Given the description of an element on the screen output the (x, y) to click on. 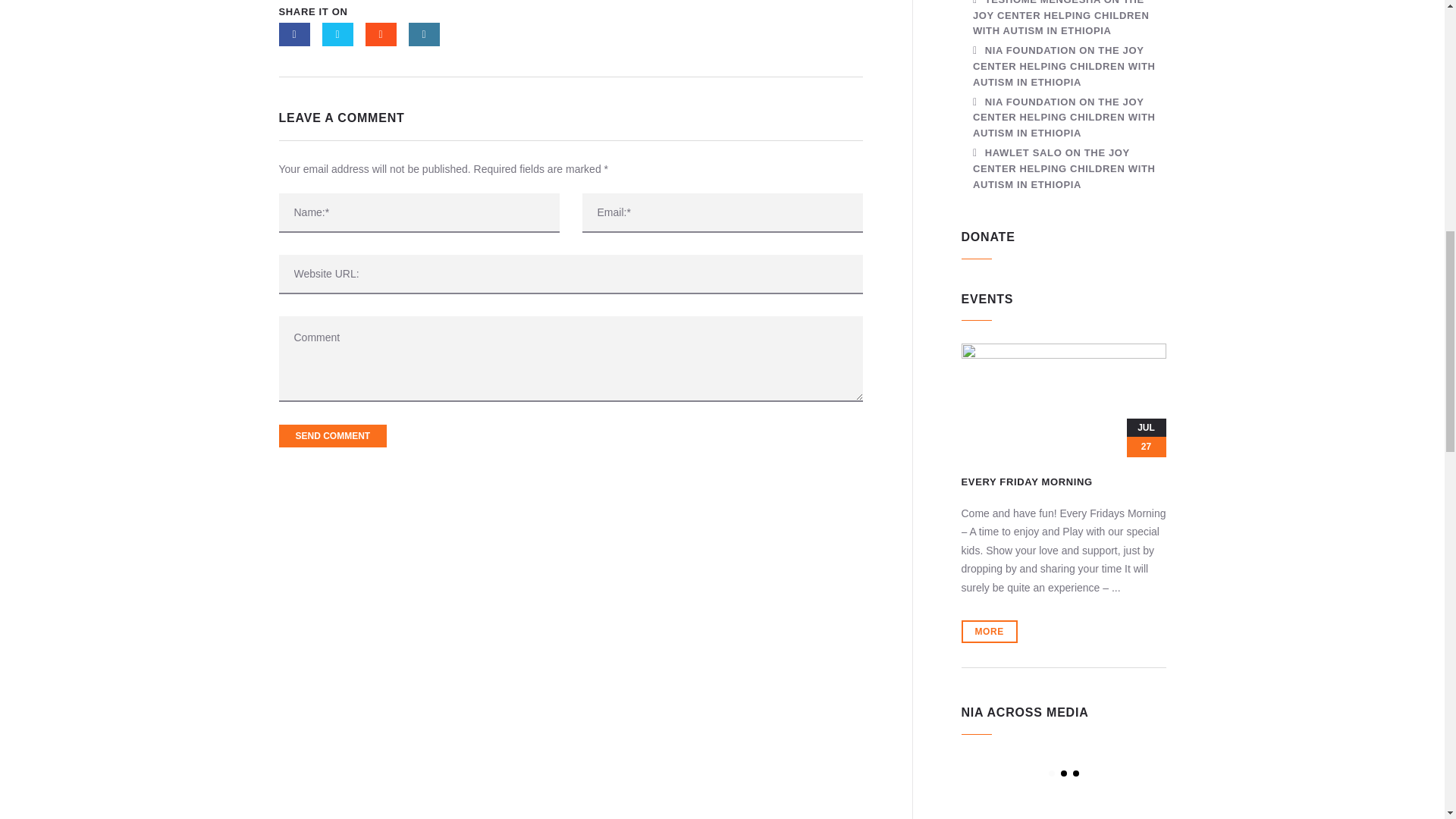
Share On Facebook (294, 33)
Send Comment (333, 436)
Share On Linkedin (423, 33)
Share On Twitter (336, 33)
Share On Google Plus (380, 33)
